Given the description of an element on the screen output the (x, y) to click on. 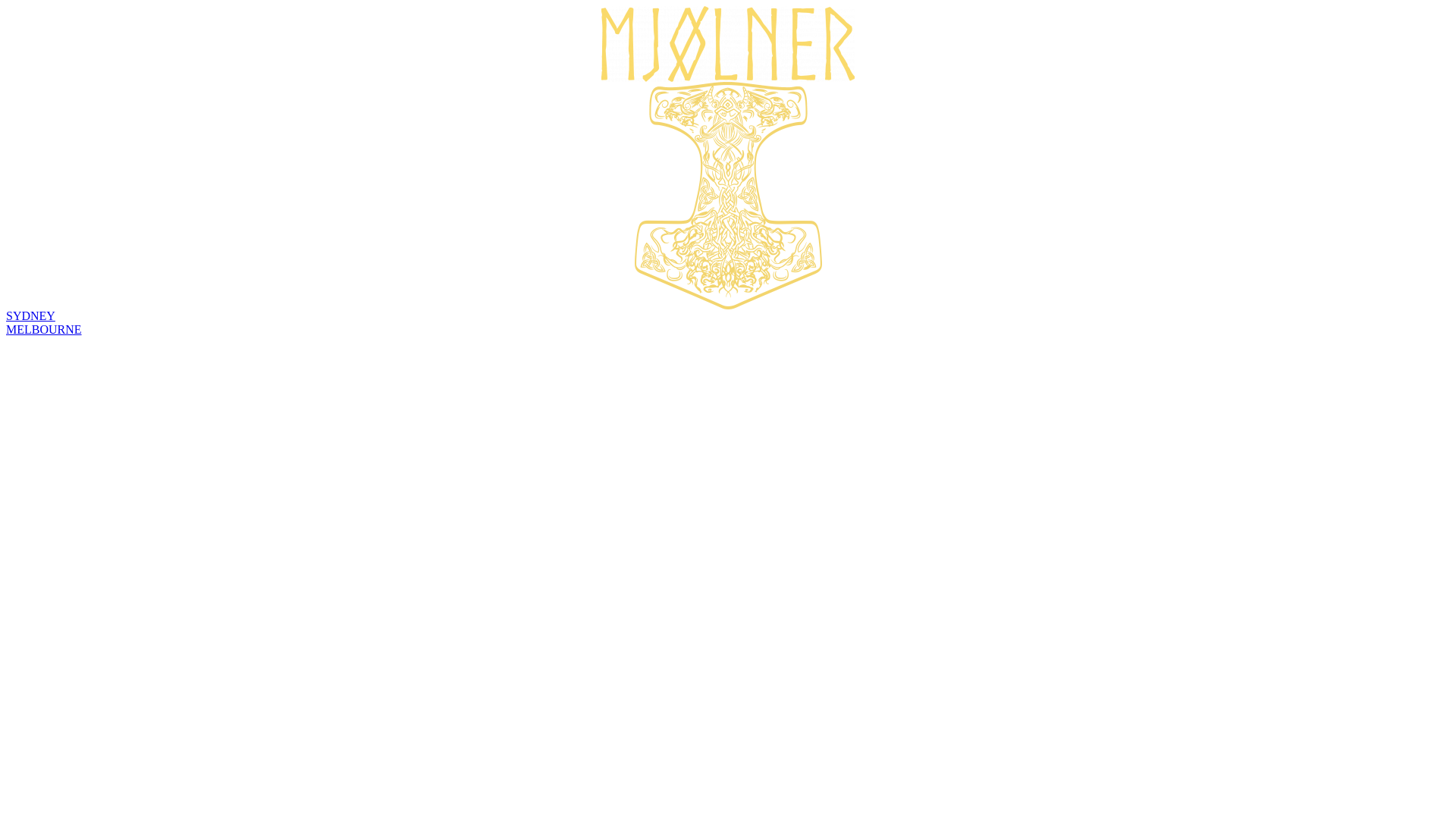
MELBOURNE Element type: text (43, 329)
SYDNEY Element type: text (30, 315)
Mjolner_Type_Yellow Element type: hover (727, 43)
